Given the description of an element on the screen output the (x, y) to click on. 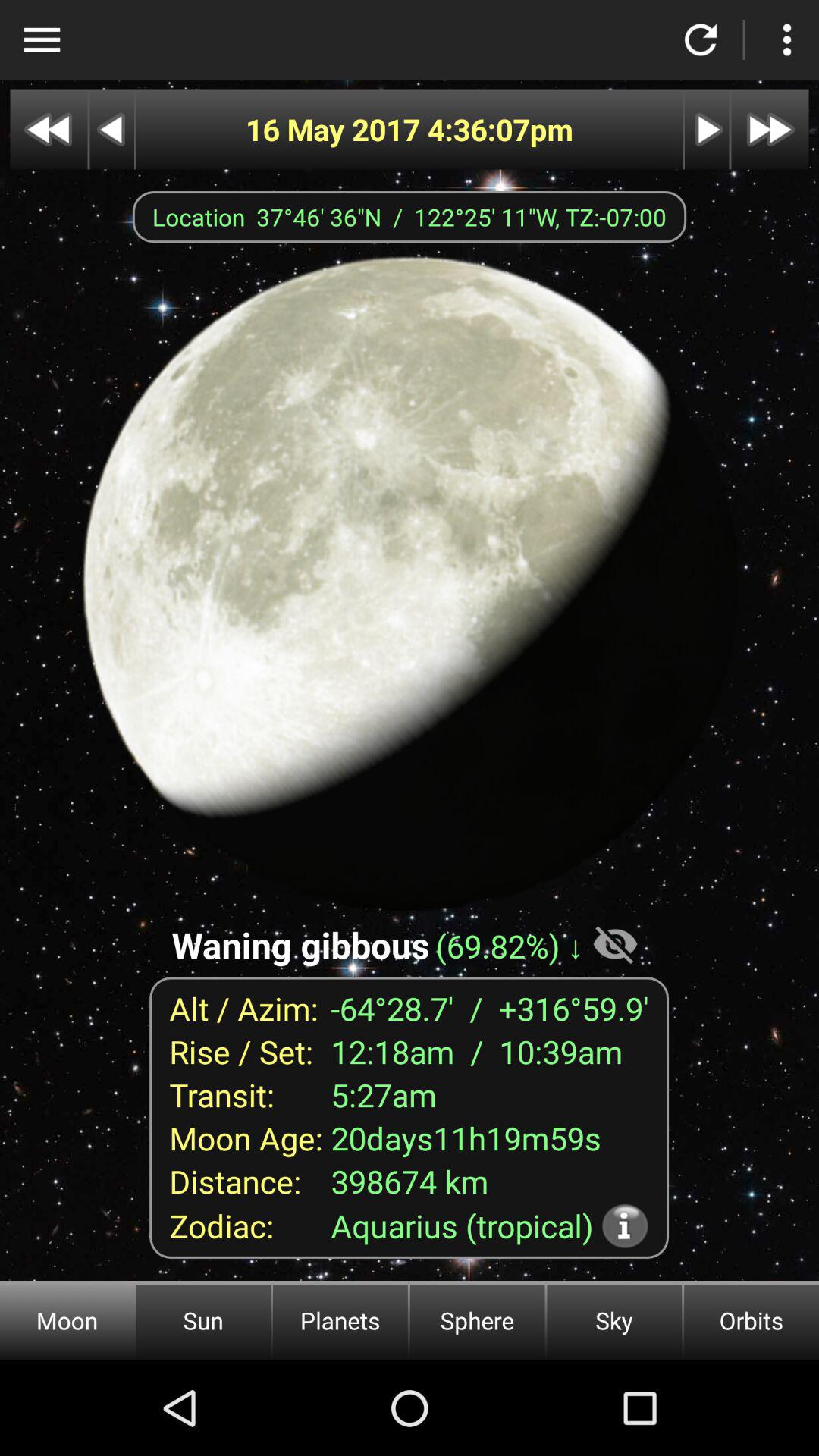
go to next (706, 129)
